Given the description of an element on the screen output the (x, y) to click on. 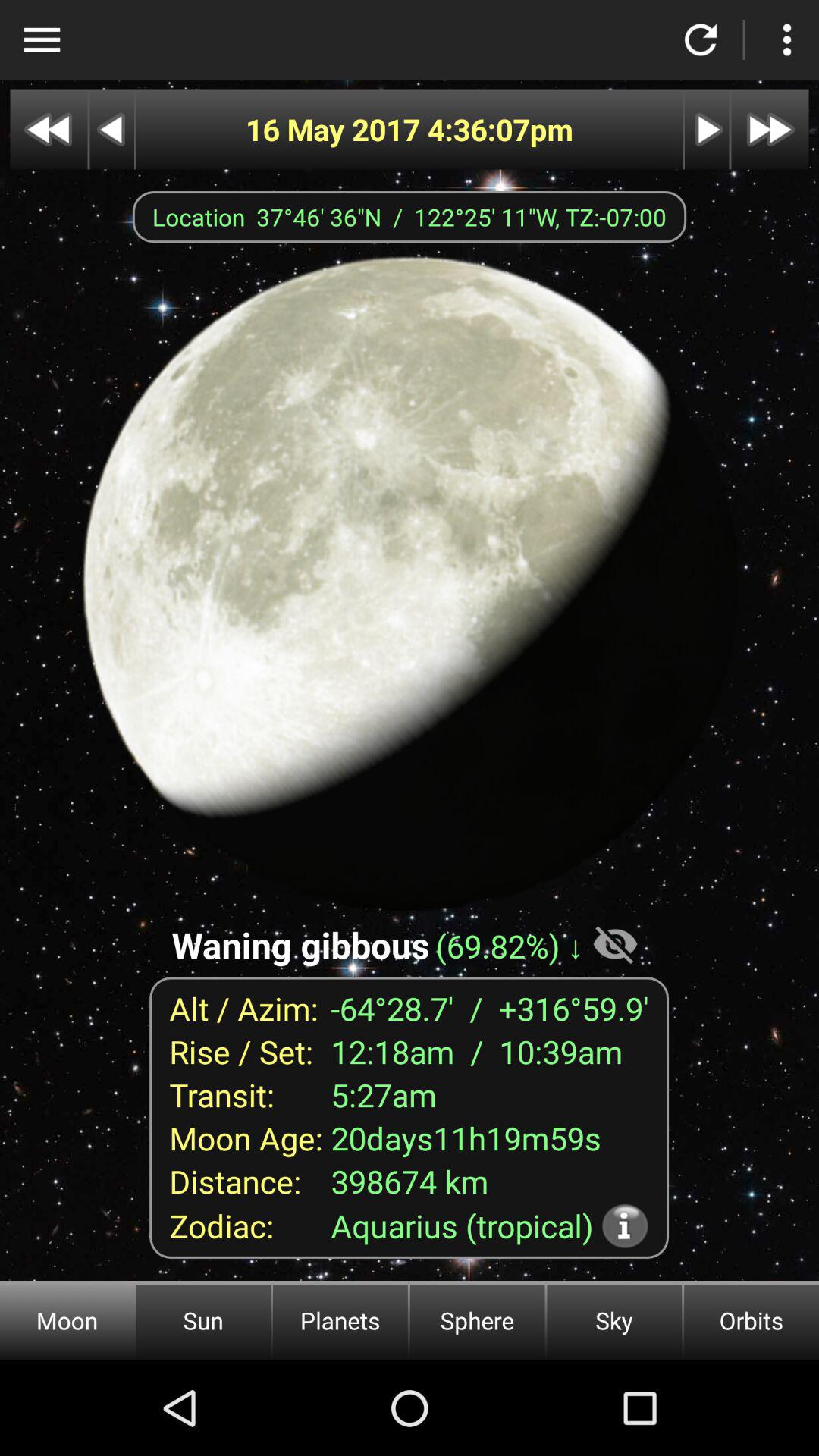
go to next (706, 129)
